Given the description of an element on the screen output the (x, y) to click on. 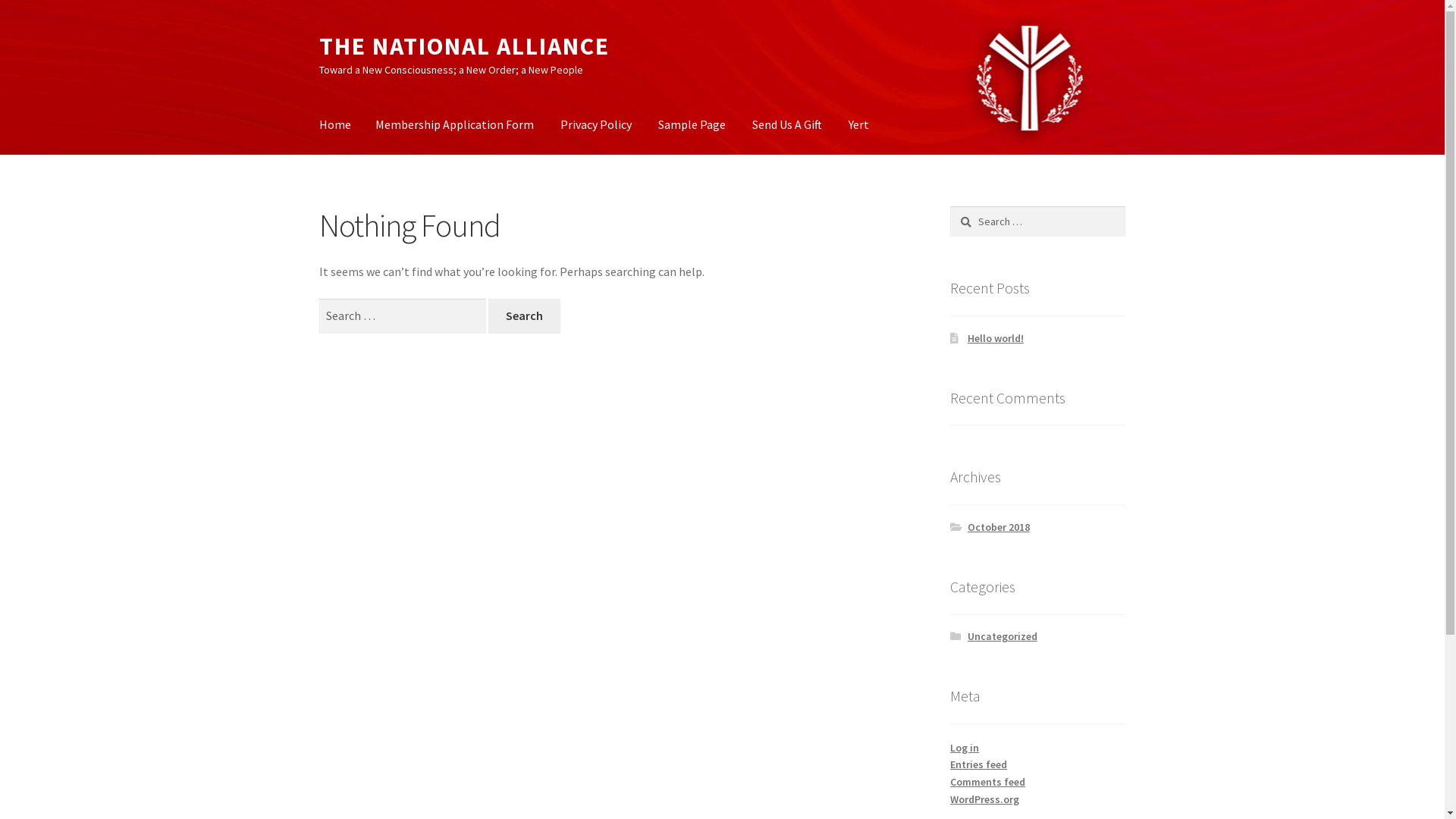
Log in Element type: text (964, 747)
Search Element type: text (949, 205)
October 2018 Element type: text (998, 526)
Hello world! Element type: text (995, 338)
Comments feed Element type: text (987, 781)
THE NATIONAL ALLIANCE Element type: text (464, 46)
Search Element type: text (523, 315)
Home Element type: text (335, 124)
Send Us A Gift Element type: text (787, 124)
Membership Application Form Element type: text (454, 124)
Sample Page Element type: text (691, 124)
Entries feed Element type: text (978, 764)
Yert Element type: text (858, 124)
Uncategorized Element type: text (1002, 636)
WordPress.org Element type: text (984, 799)
Skip to navigation Element type: text (318, 31)
Privacy Policy Element type: text (595, 124)
